Given the description of an element on the screen output the (x, y) to click on. 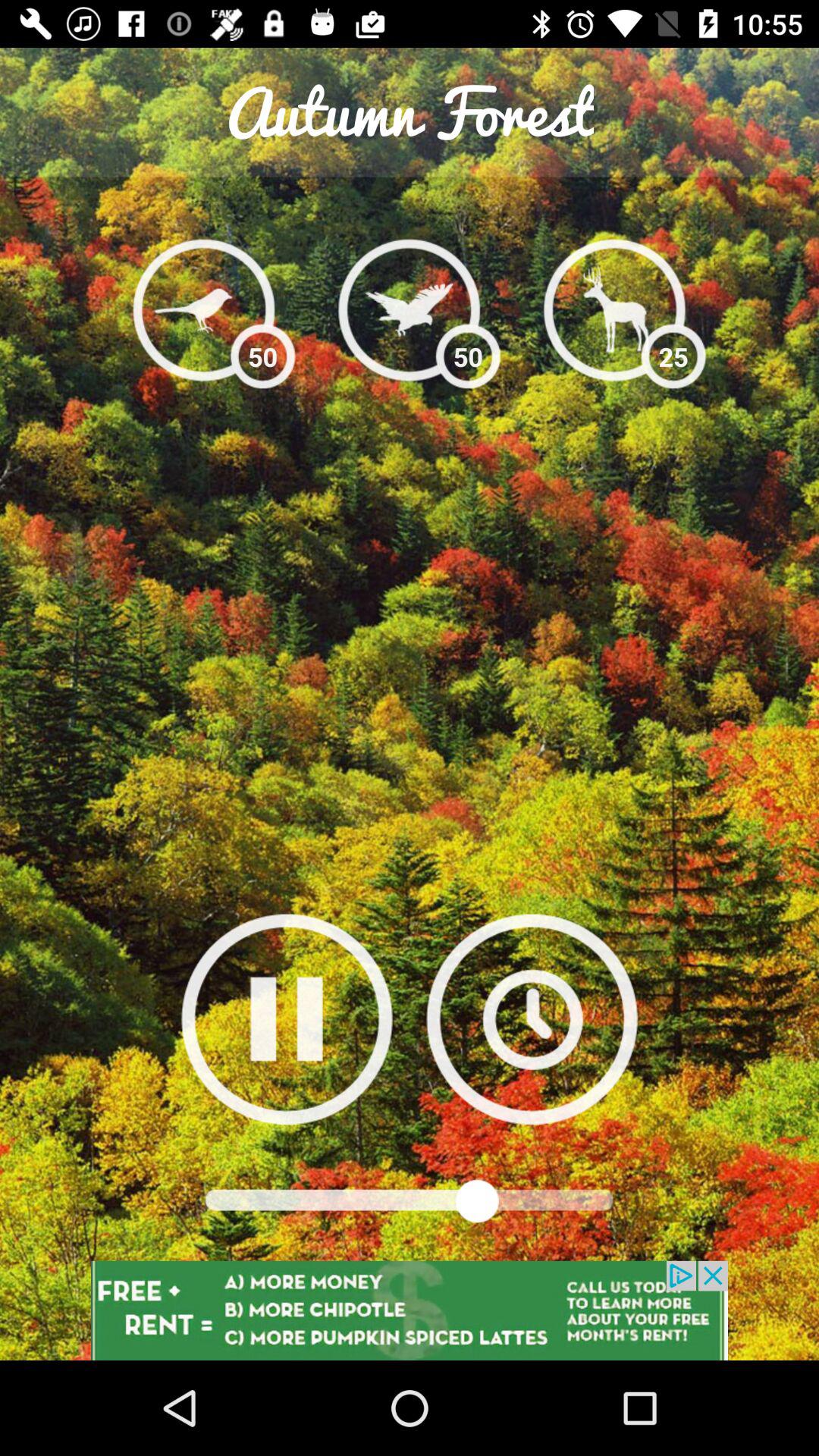
pause preview (286, 1018)
